Given the description of an element on the screen output the (x, y) to click on. 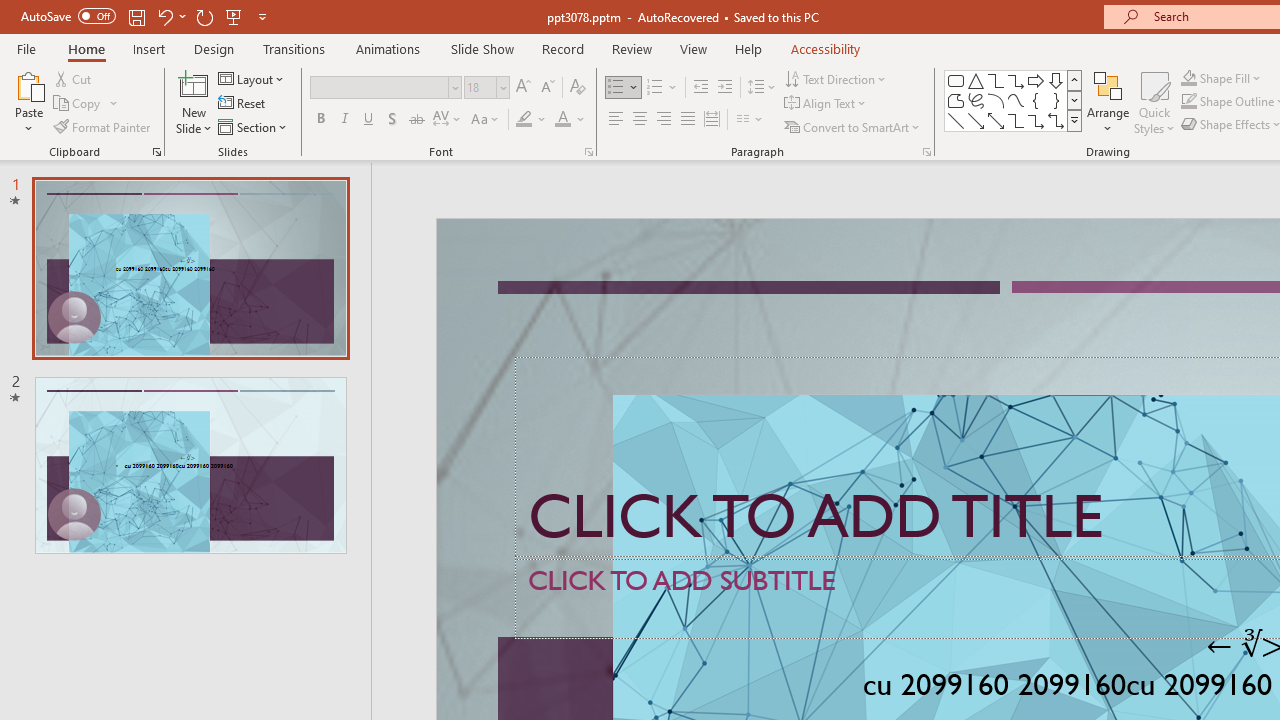
Connector: Elbow Double-Arrow (1055, 120)
